Given the description of an element on the screen output the (x, y) to click on. 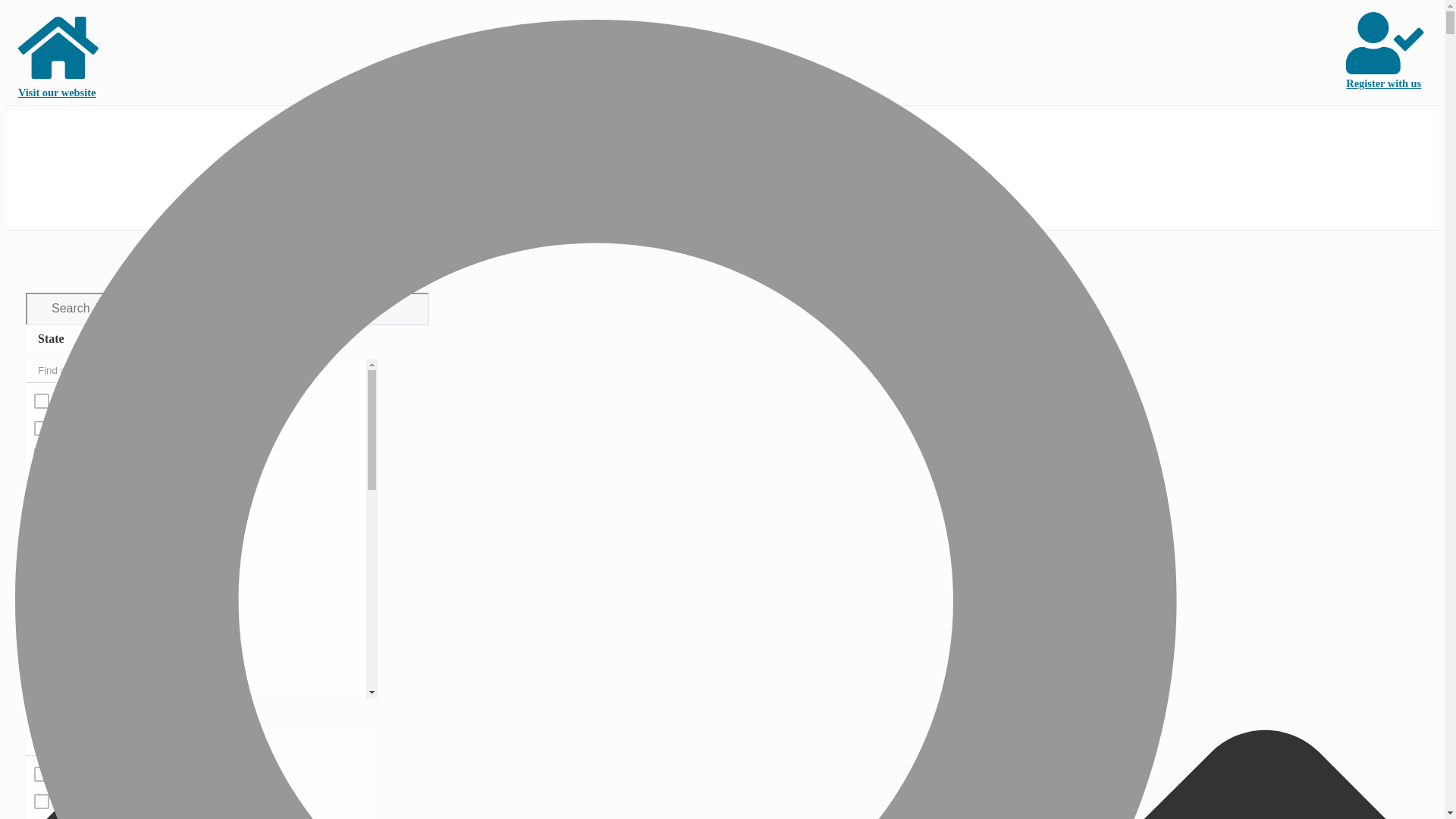
Visit our website (58, 55)
Register with us (1385, 55)
Type of engagement: (98, 711)
State (57, 338)
